Given the description of an element on the screen output the (x, y) to click on. 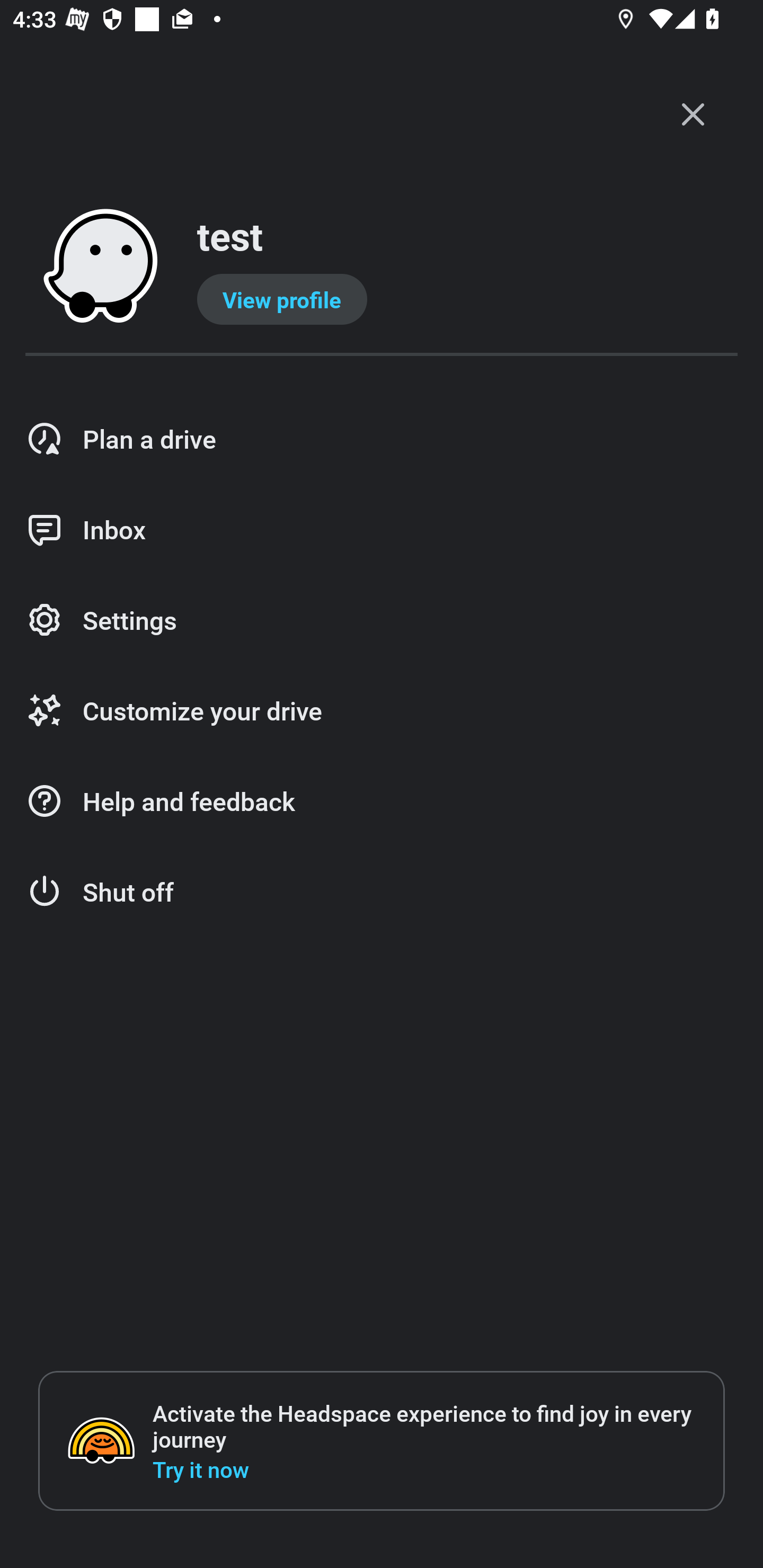
test View profile (381, 266)
View profile (281, 299)
ACTION_CELL_ICON Plan a drive ACTION_CELL_TEXT (381, 438)
ACTION_CELL_ICON Inbox ACTION_CELL_TEXT (381, 529)
ACTION_CELL_ICON Settings ACTION_CELL_TEXT (381, 620)
ACTION_CELL_ICON Shut off ACTION_CELL_TEXT (381, 891)
